Given the description of an element on the screen output the (x, y) to click on. 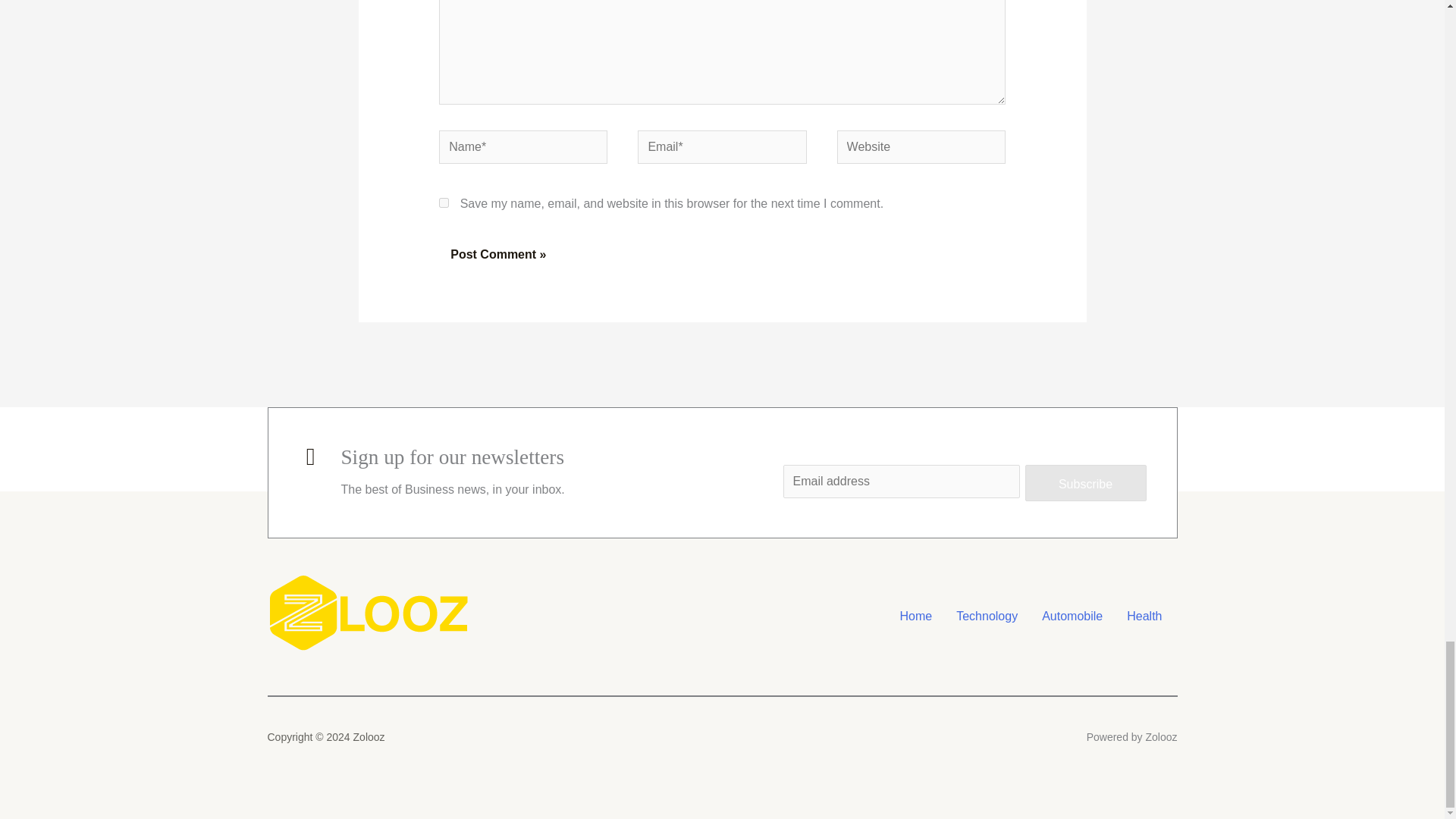
yes (443, 202)
